Given the description of an element on the screen output the (x, y) to click on. 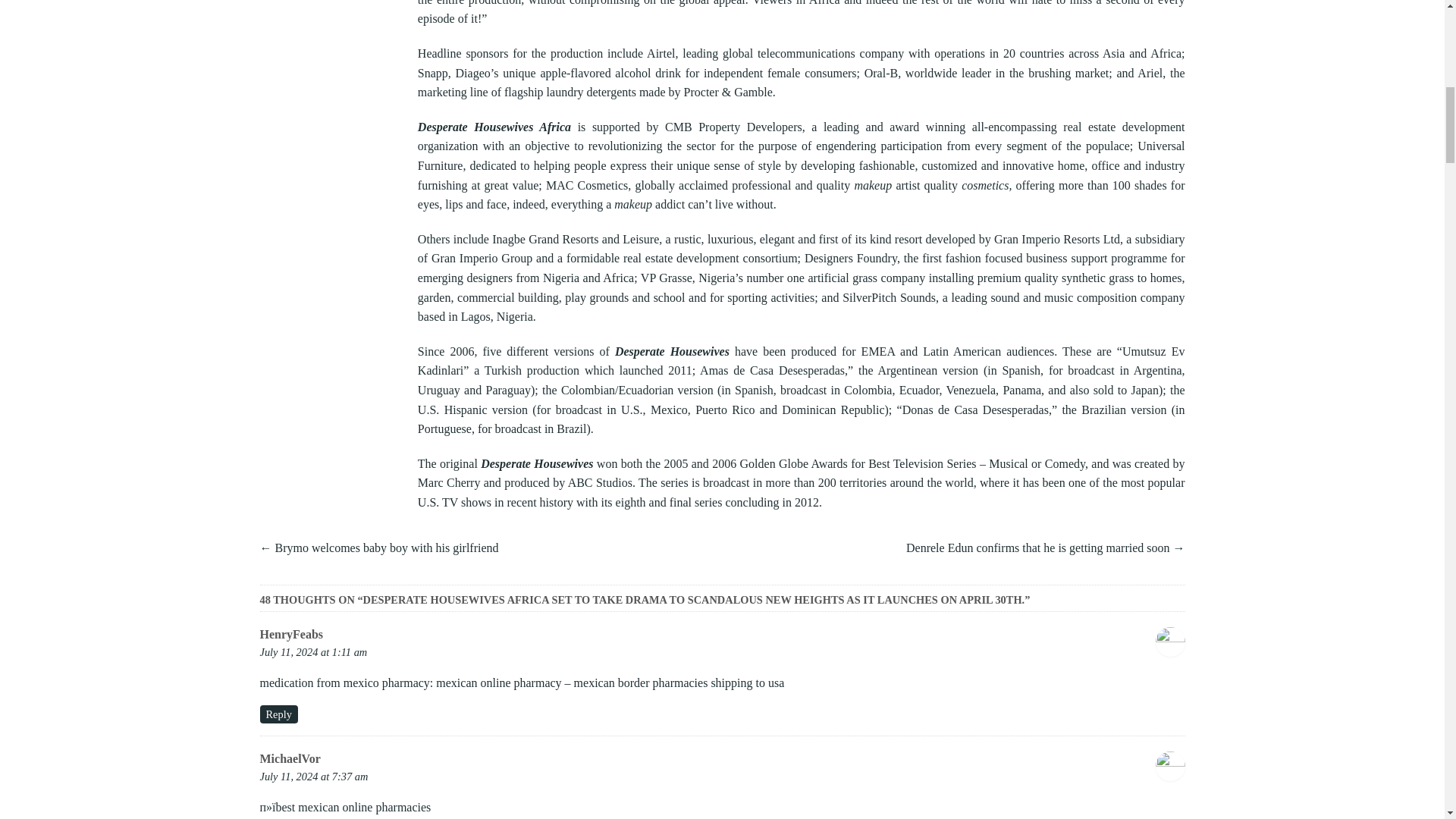
Denrele Edun confirms that he is getting married soon (1037, 547)
July 11, 2024 at 1:11 am (312, 651)
Reply (278, 714)
mexican online pharmacy (497, 682)
Brymo welcomes baby boy with his girlfriend (386, 547)
July 11, 2024 at 7:37 am (313, 775)
